Given the description of an element on the screen output the (x, y) to click on. 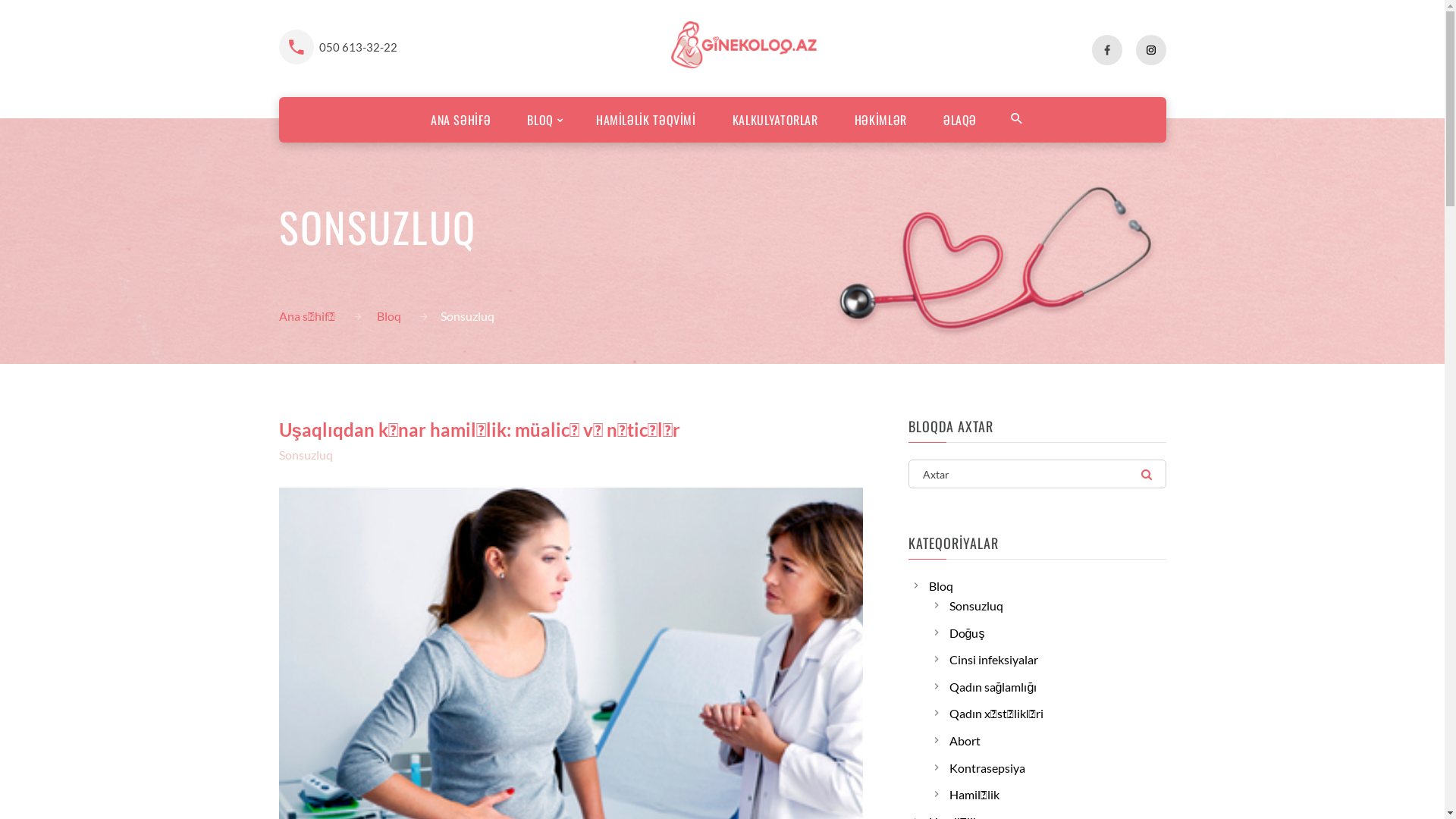
BLOQ Element type: text (539, 119)
Sonsuzluq Element type: text (976, 605)
Kontrasepsiya Element type: text (987, 767)
Bloq Element type: text (940, 585)
Sonsuzluq Element type: text (305, 454)
Abort Element type: text (964, 740)
Cinsi infeksiyalar Element type: text (993, 659)
Bloq Element type: text (388, 315)
KALKULYATORLAR Element type: text (775, 119)
050 613-32-22 Element type: text (357, 46)
